Given the description of an element on the screen output the (x, y) to click on. 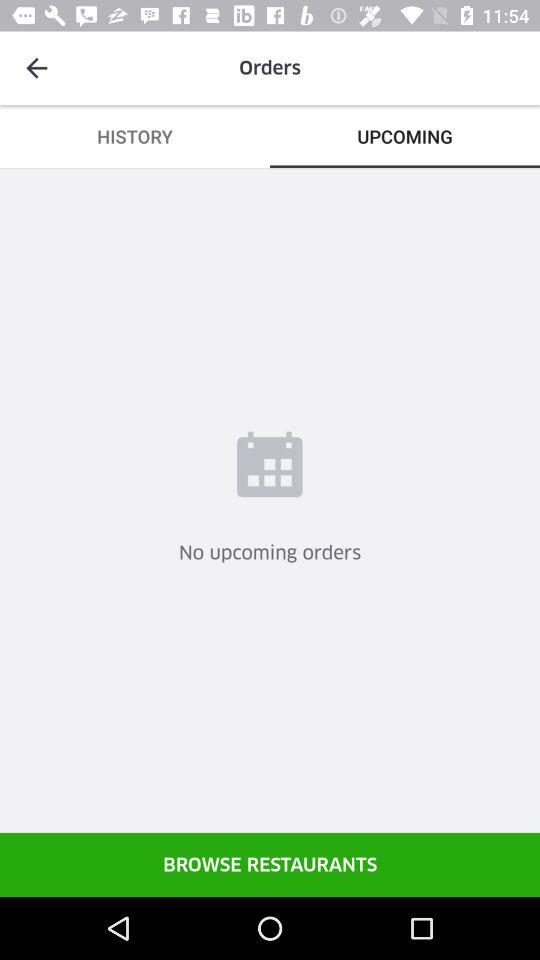
select browse restaurants item (270, 864)
